Given the description of an element on the screen output the (x, y) to click on. 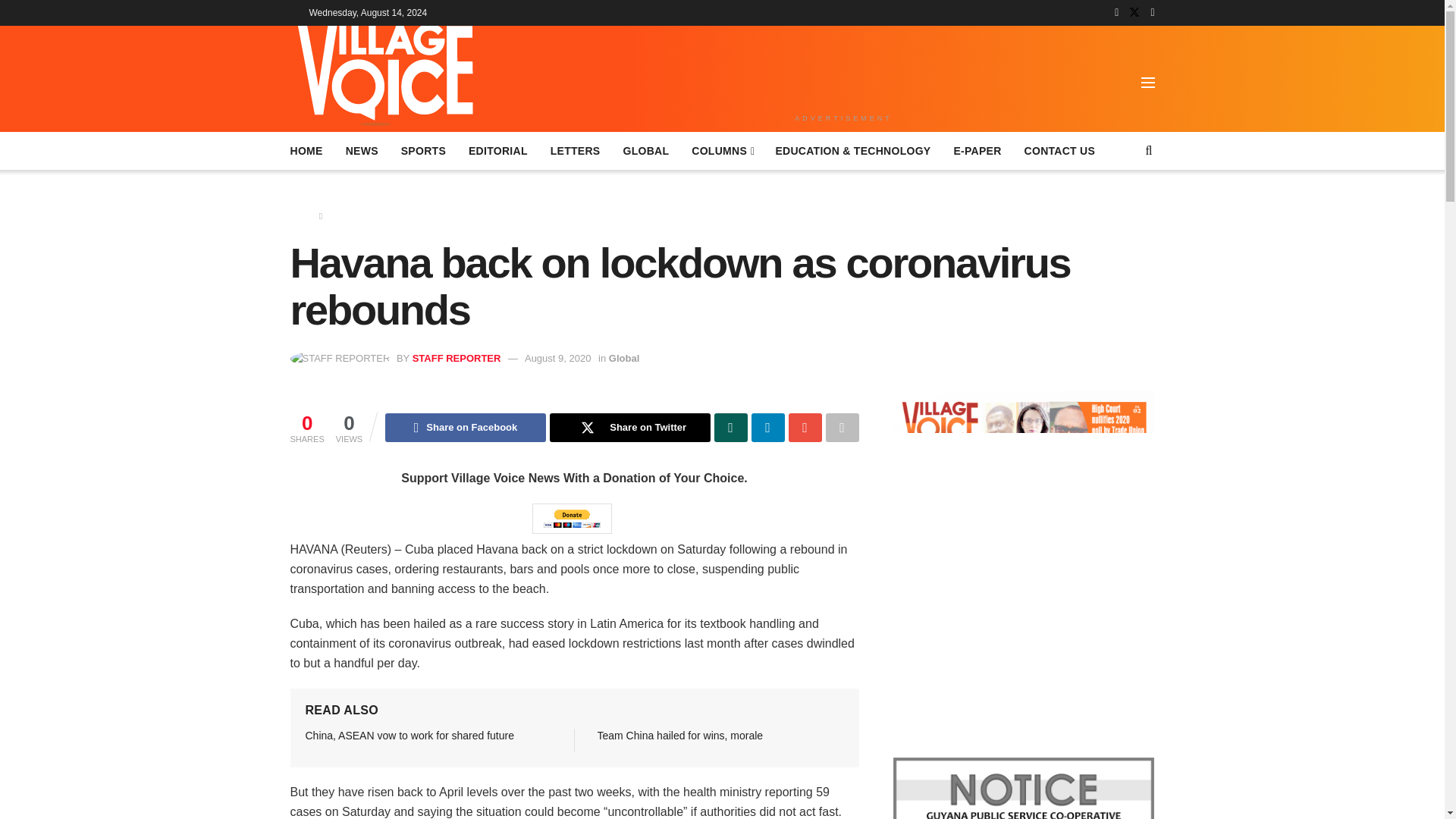
GLOBAL (645, 150)
E-PAPER (977, 150)
CONTACT US (1060, 150)
NEWS (362, 150)
HOME (305, 150)
COLUMNS (721, 150)
EDITORIAL (497, 150)
PayPal - The safer, easier way to pay online! (571, 518)
LETTERS (574, 150)
SPORTS (423, 150)
